Given the description of an element on the screen output the (x, y) to click on. 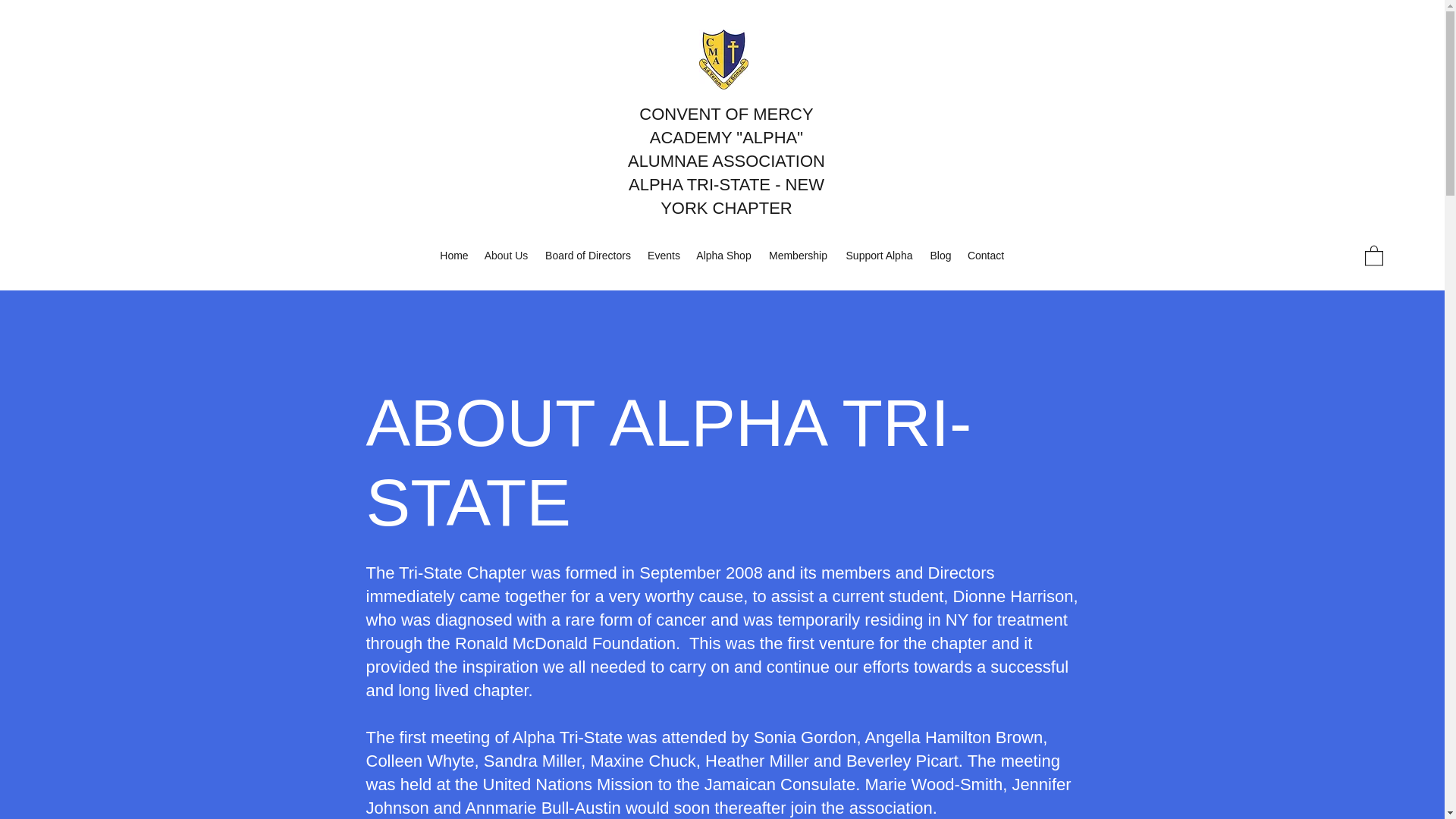
Contact (985, 255)
Alpha Shop (723, 255)
Home (454, 255)
Support Alpha (878, 255)
Events (663, 255)
About Us (505, 255)
Board of Directors (587, 255)
Membership (797, 255)
Blog (940, 255)
